Given the description of an element on the screen output the (x, y) to click on. 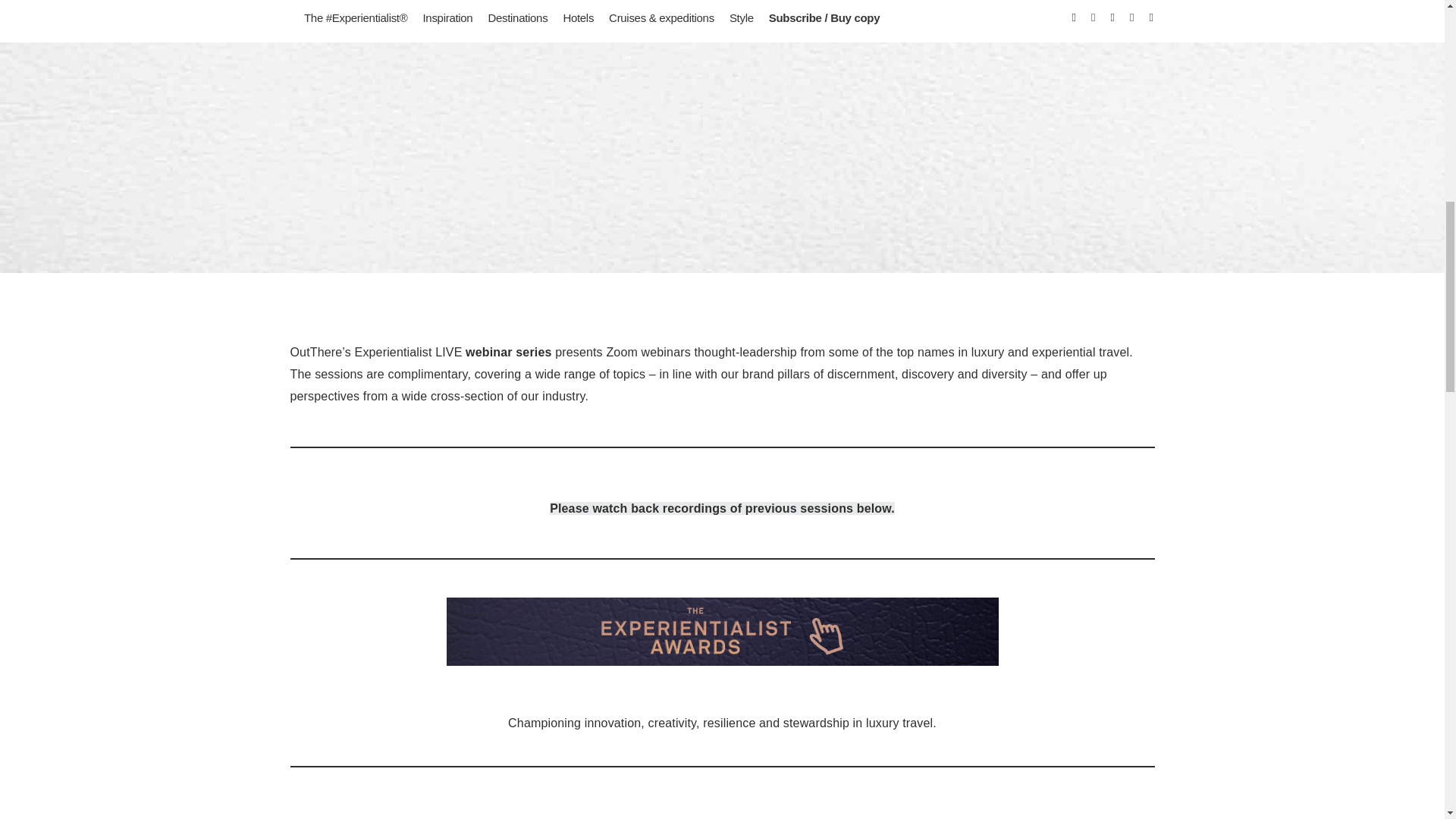
webinar series (508, 351)
